Given the description of an element on the screen output the (x, y) to click on. 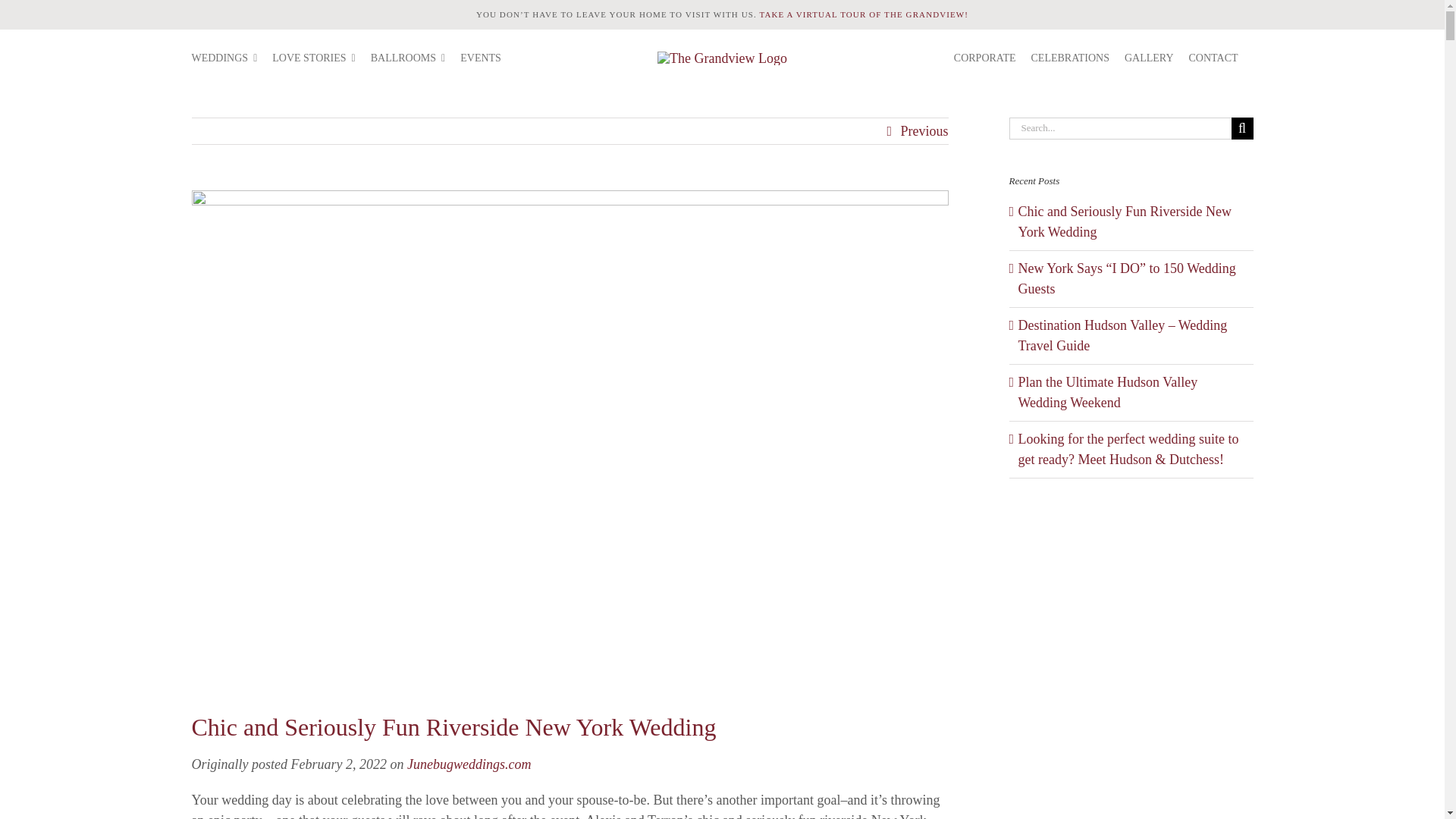
BALLROOMS (415, 57)
GALLERY (1156, 57)
EVENTS (488, 57)
TAKE A VIRTUAL TOUR OF THE GRANDVIEW! (863, 13)
CELEBRATIONS (1077, 57)
CONTACT (1221, 57)
LOVE STORIES (320, 57)
CORPORATE (991, 57)
WEDDINGS (231, 57)
